Given the description of an element on the screen output the (x, y) to click on. 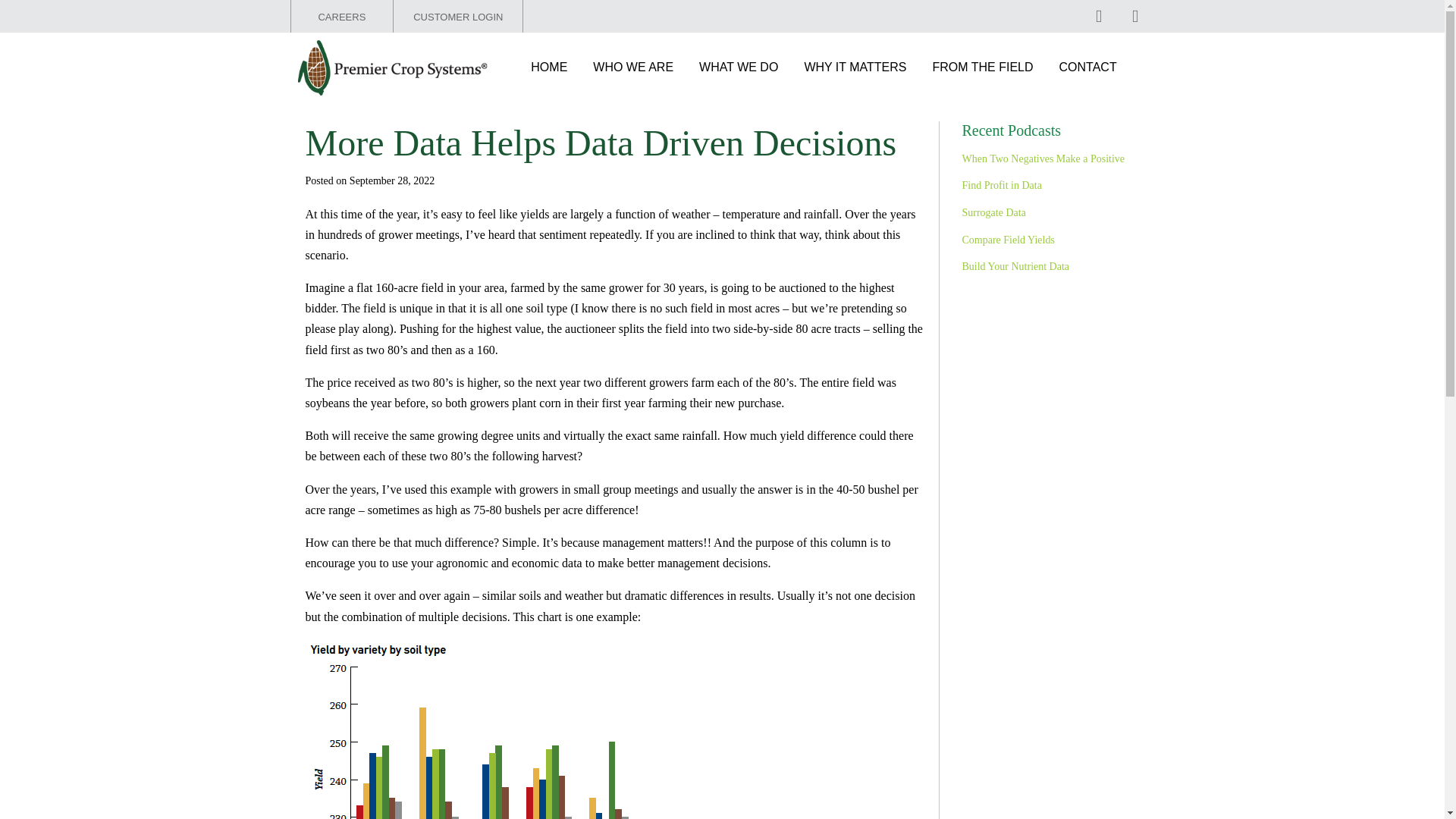
FROM THE FIELD (983, 67)
When Two Negatives Make a Positive (1042, 158)
Build Your Nutrient Data (1014, 266)
HOME (549, 67)
Surrogate Data (992, 212)
CAREERS (341, 17)
CUSTOMER LOGIN (457, 17)
WHAT WE DO (737, 67)
CONTACT (1087, 67)
WHO WE ARE (632, 67)
